Given the description of an element on the screen output the (x, y) to click on. 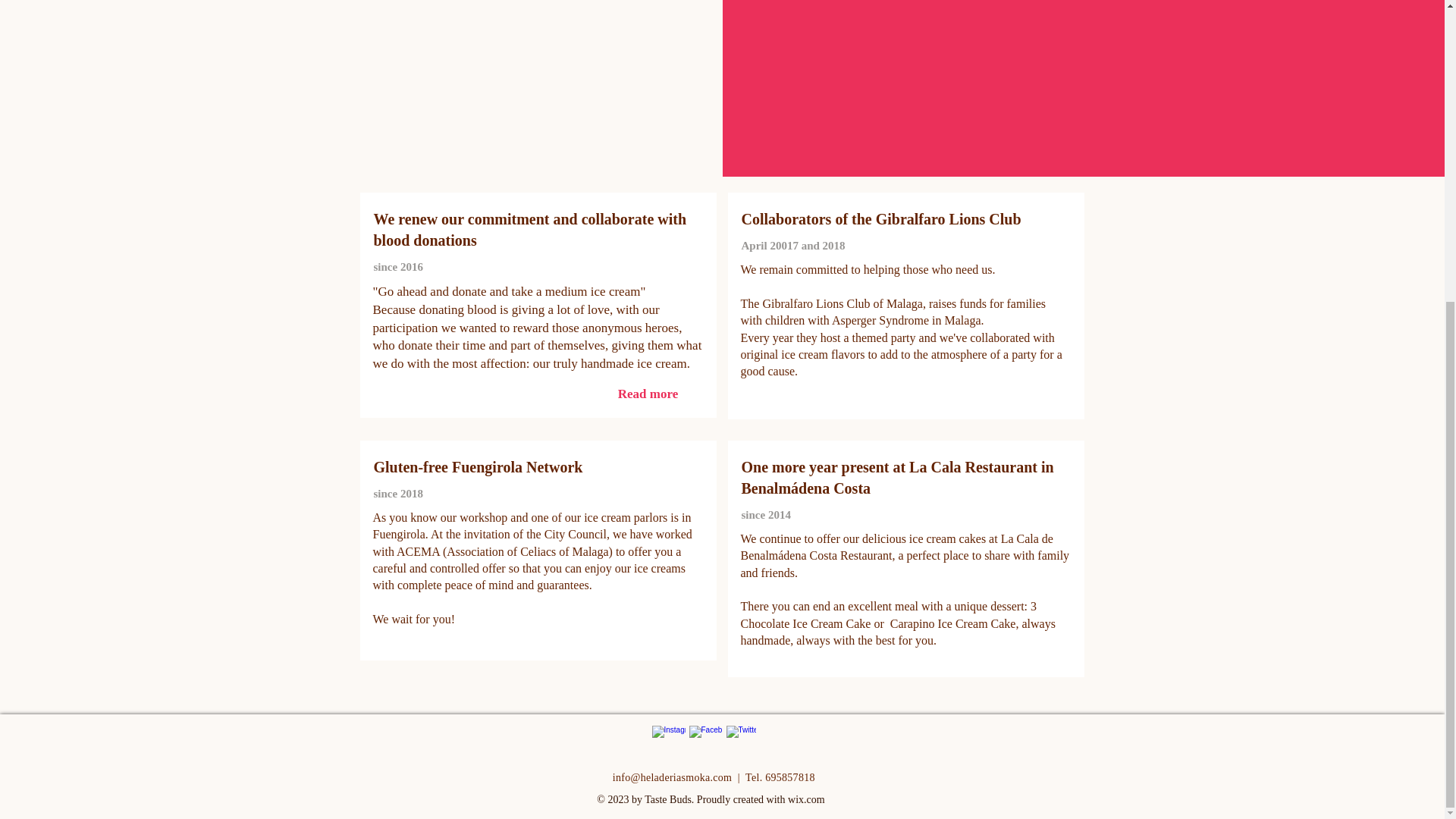
Read more (647, 394)
wix.com (806, 799)
